Given the description of an element on the screen output the (x, y) to click on. 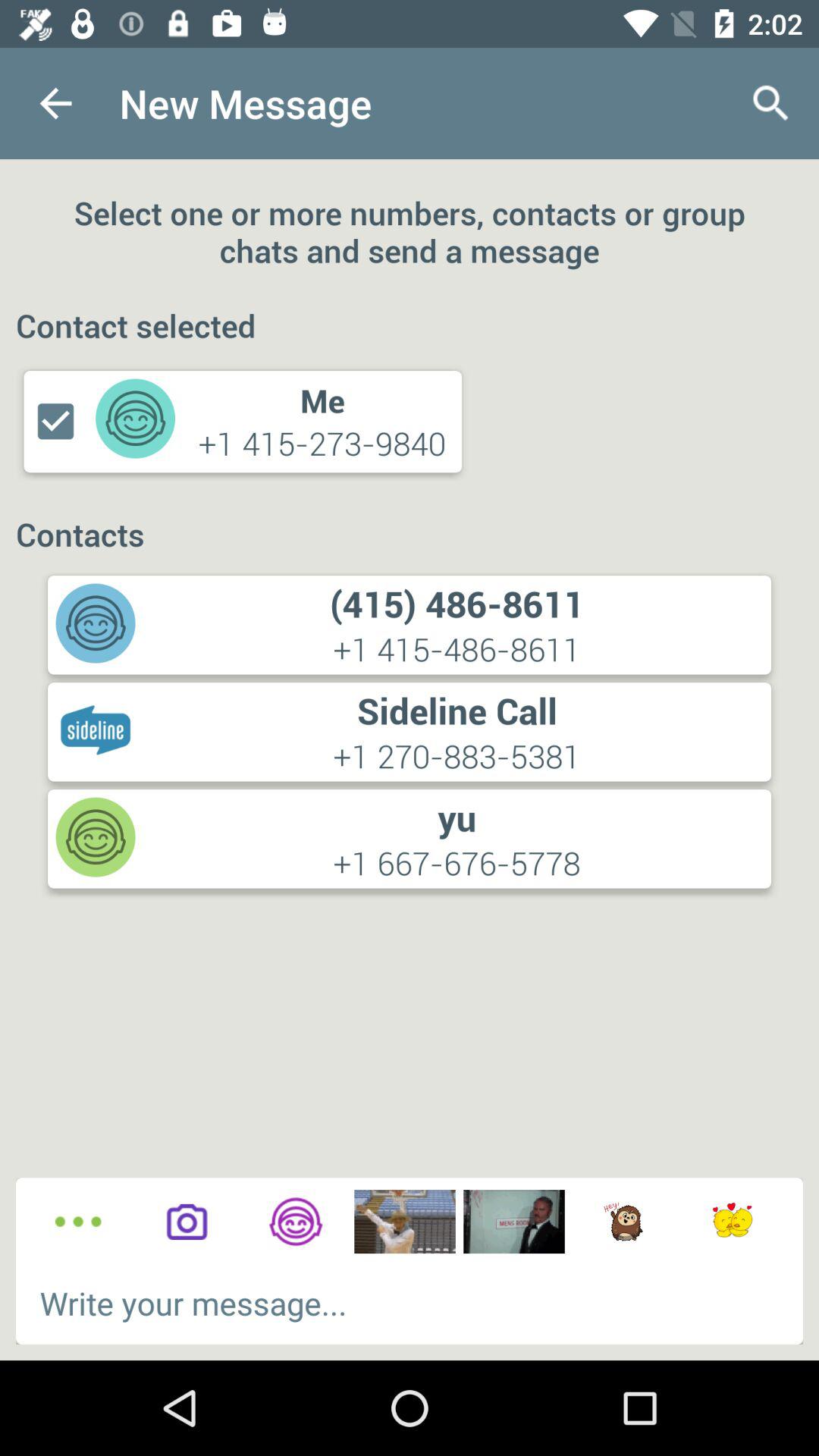
more informations (77, 1221)
